Given the description of an element on the screen output the (x, y) to click on. 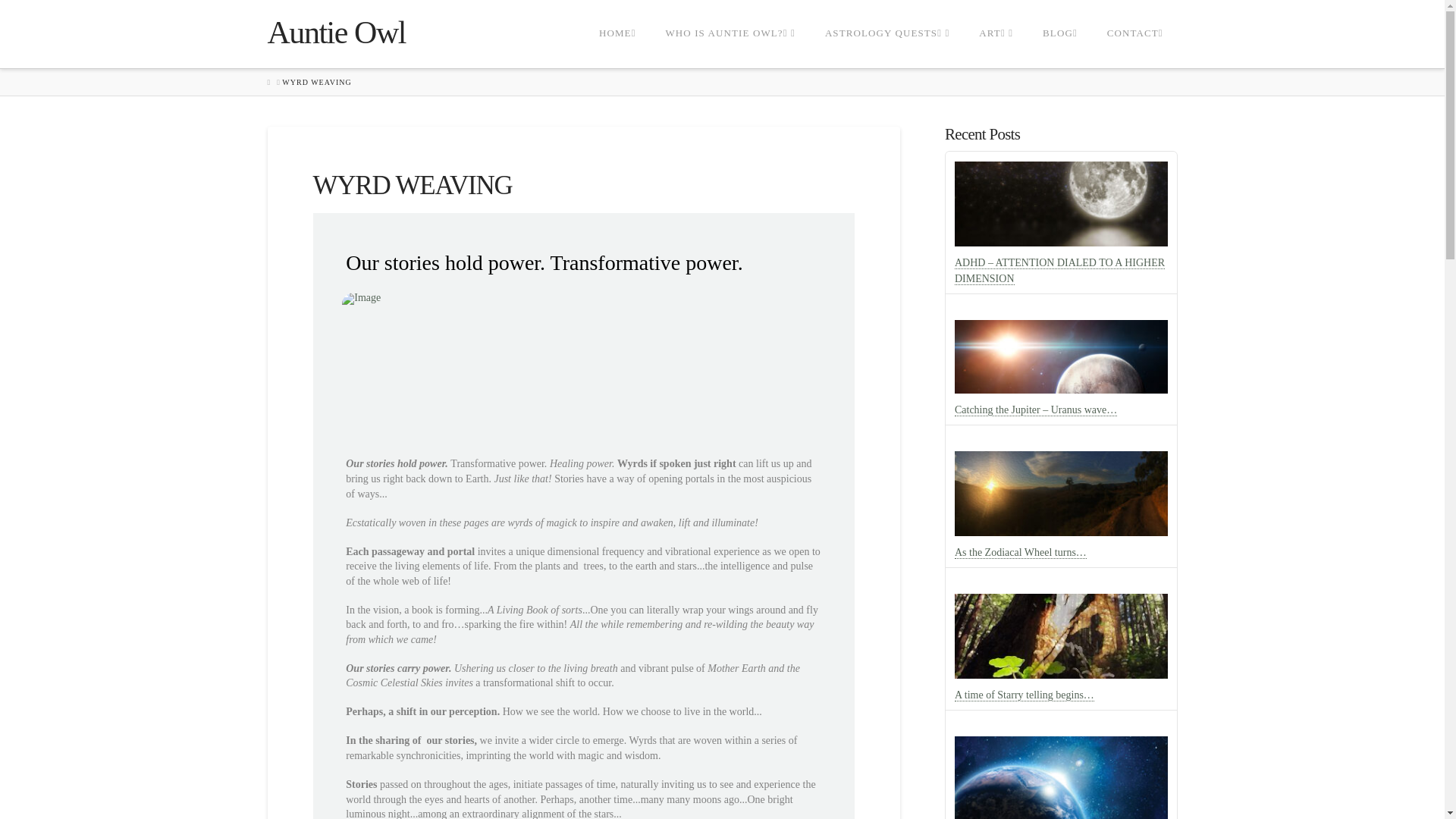
Auntie Owl (335, 32)
WYRD WEAVING (316, 81)
CONTACT (1134, 33)
HOME (268, 81)
BLOG (1059, 33)
ASTROLOGY QUESTS (886, 33)
HOME (616, 33)
ART (995, 33)
You Are Here (316, 81)
WHO IS AUNTIE OWL? (729, 33)
